Given the description of an element on the screen output the (x, y) to click on. 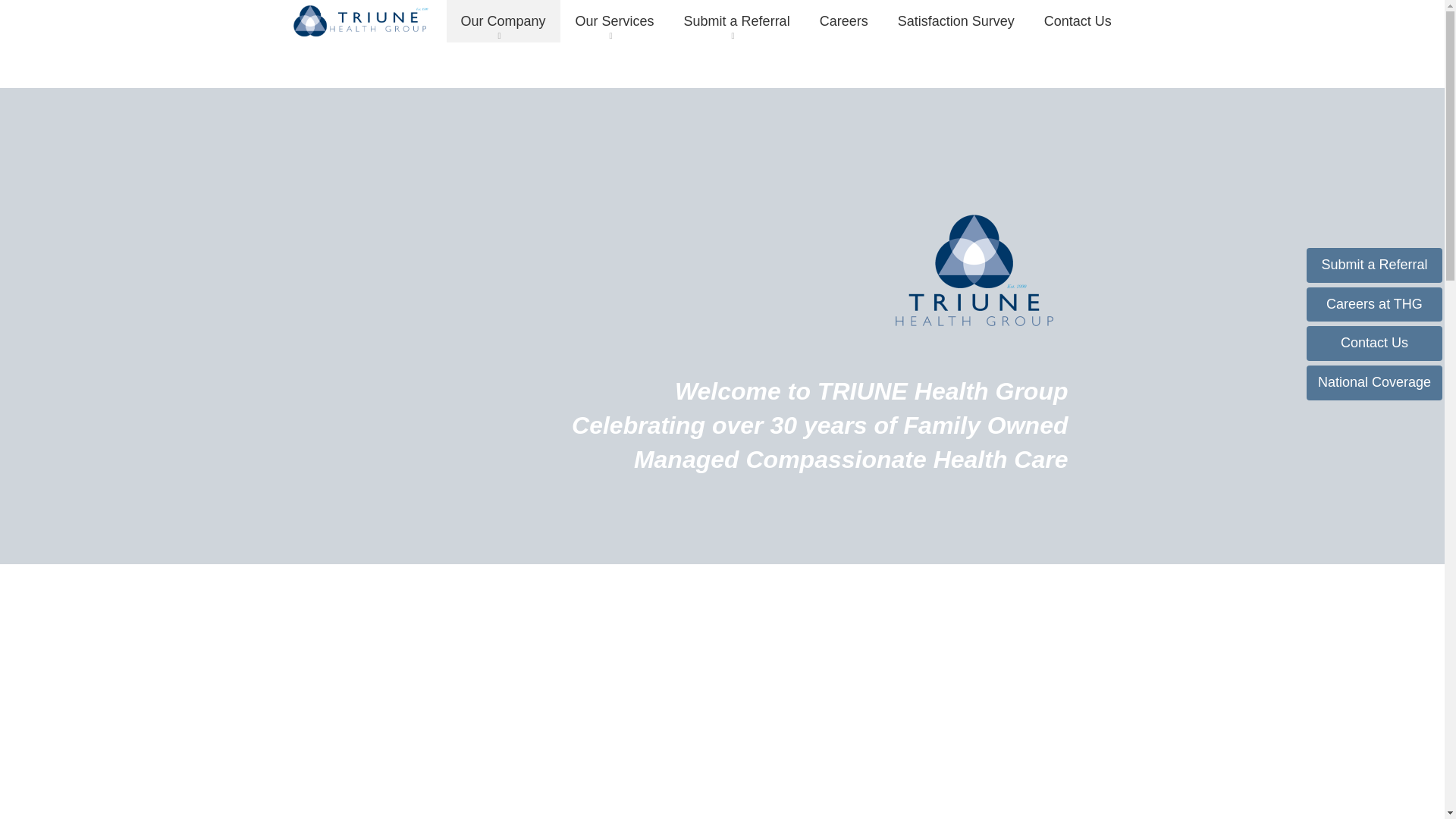
Submit a Referral (736, 21)
Satisfaction Survey (955, 21)
Our Services (614, 21)
Home (361, 20)
Our Company (502, 21)
Contact Us (1077, 21)
Careers (843, 21)
